Given the description of an element on the screen output the (x, y) to click on. 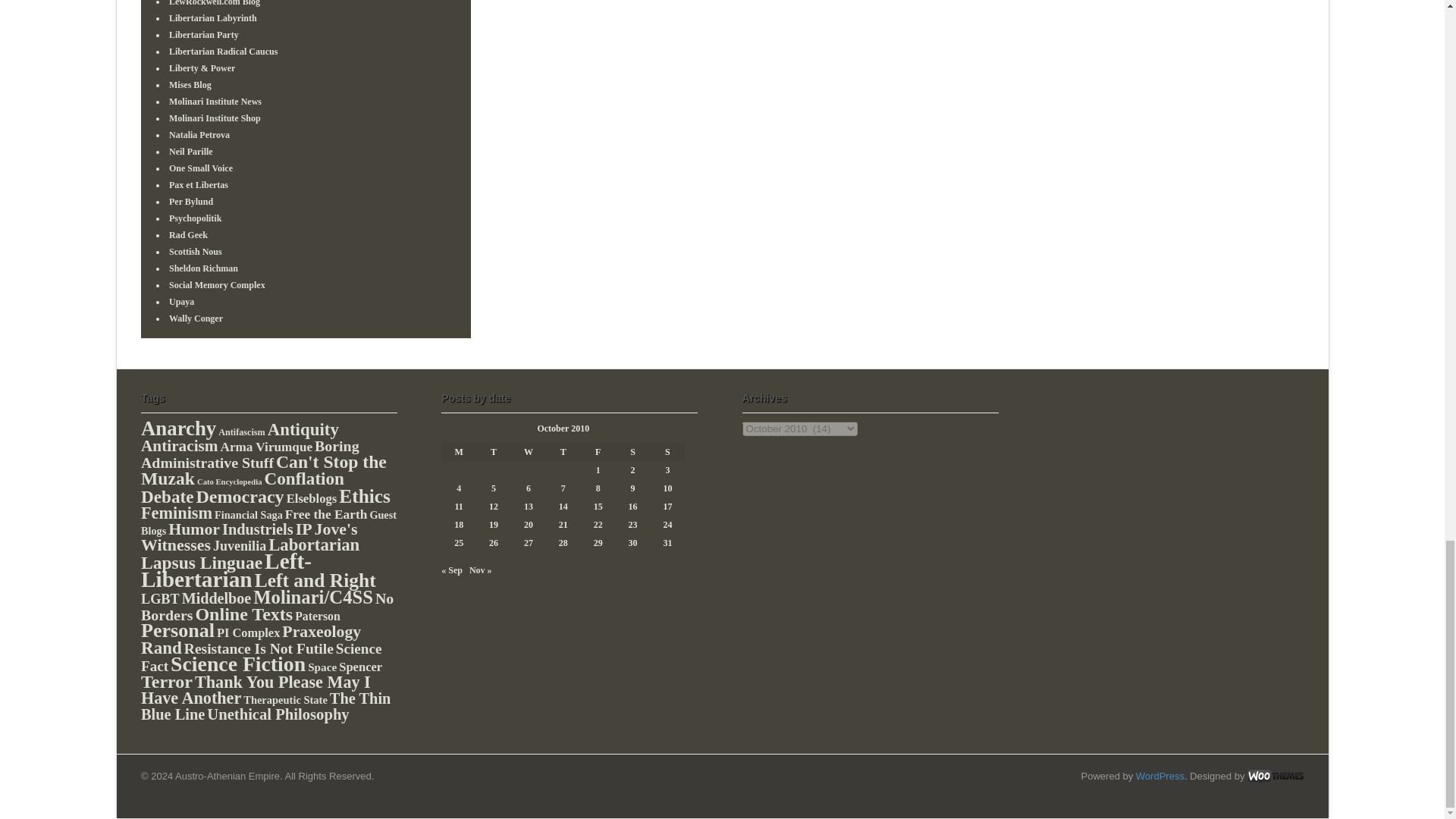
Thursday (563, 452)
Monday (458, 452)
Tuesday (493, 452)
Sunday (666, 452)
Wednesday (528, 452)
WordPress (1160, 776)
Saturday (632, 452)
Friday (597, 452)
